Given the description of an element on the screen output the (x, y) to click on. 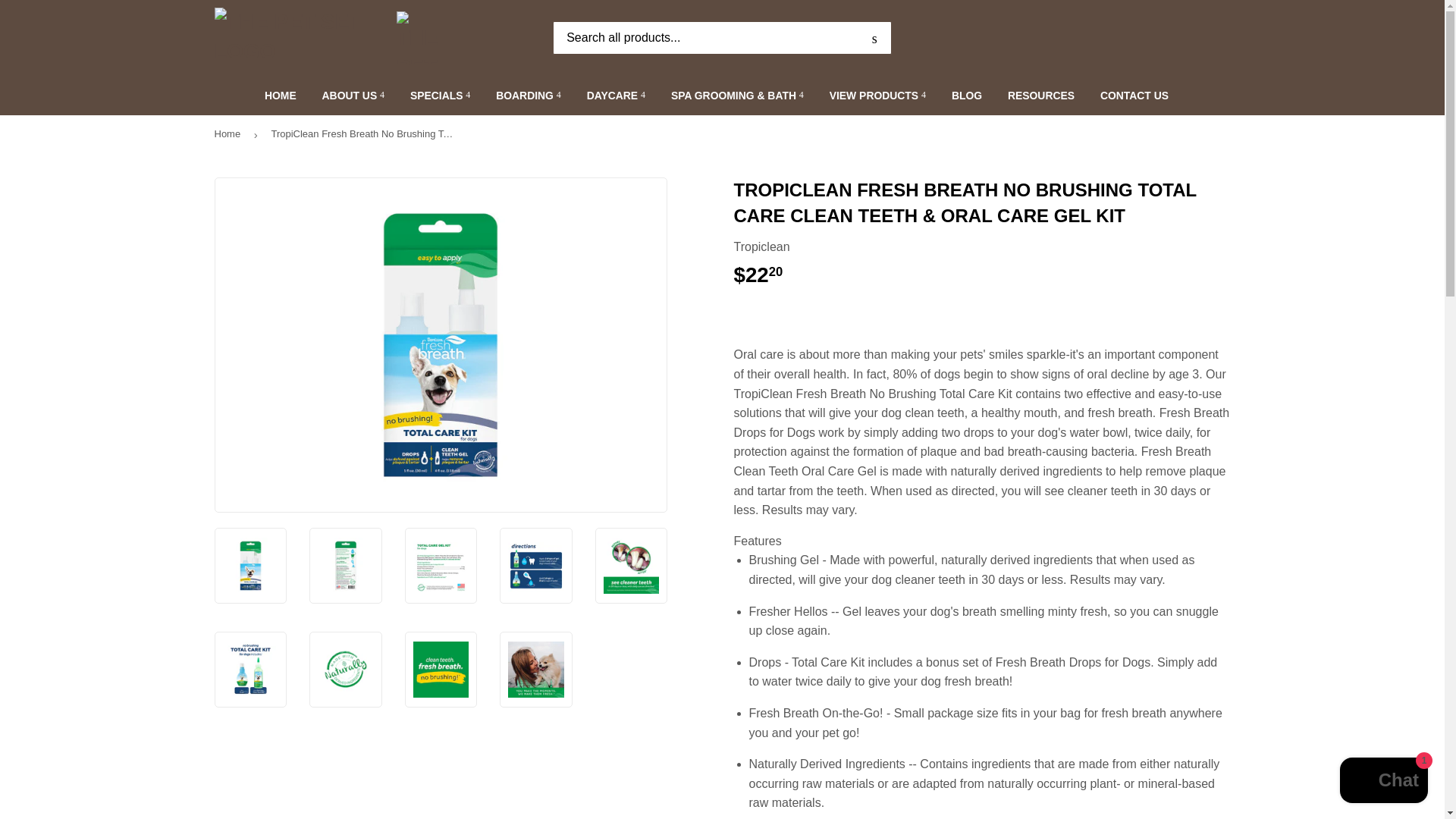
Open Product Zoom (441, 344)
SEARCH (874, 38)
